Given the description of an element on the screen output the (x, y) to click on. 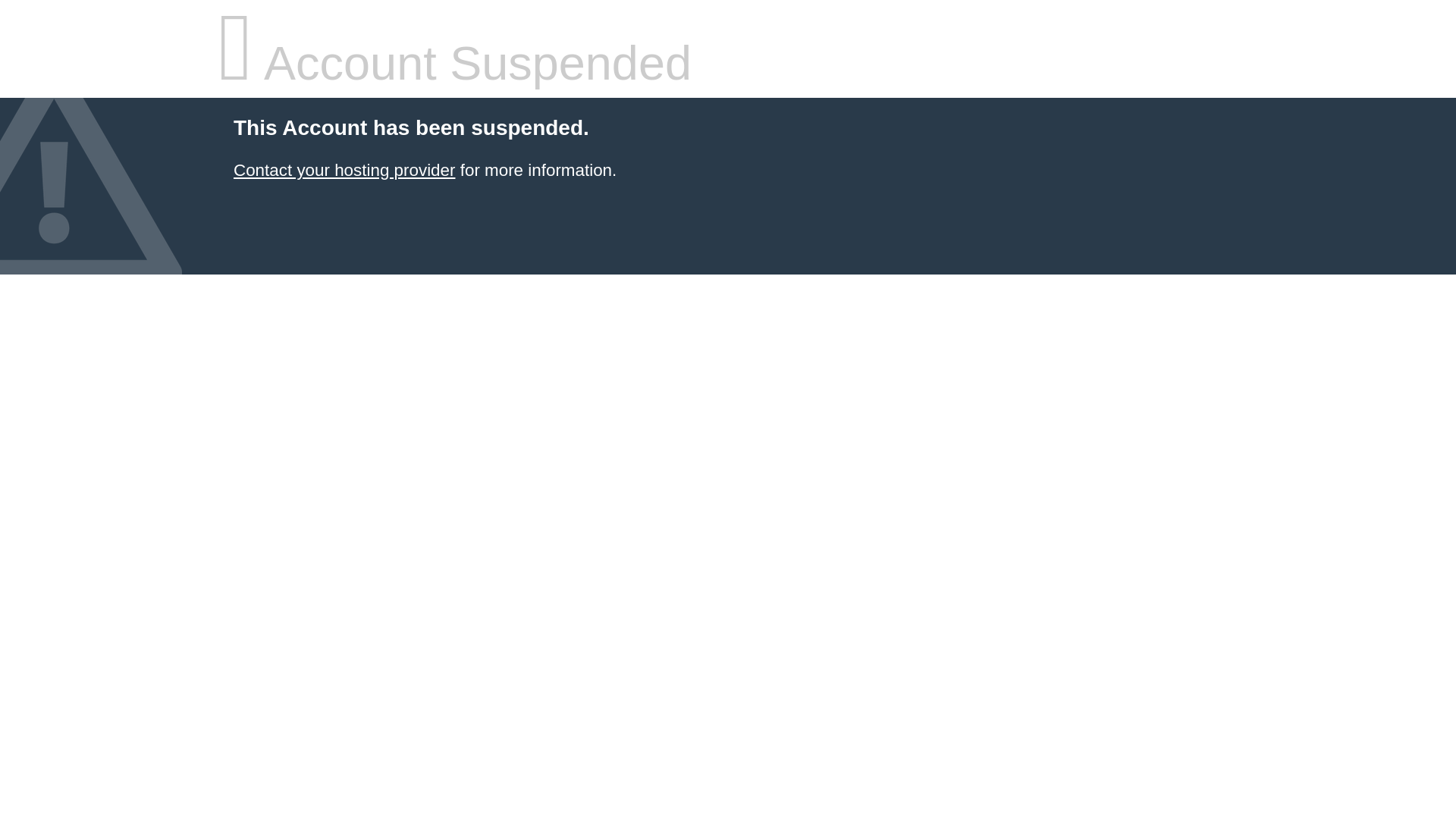
NameHero.com (343, 169)
Contact your hosting provider (343, 169)
